Given the description of an element on the screen output the (x, y) to click on. 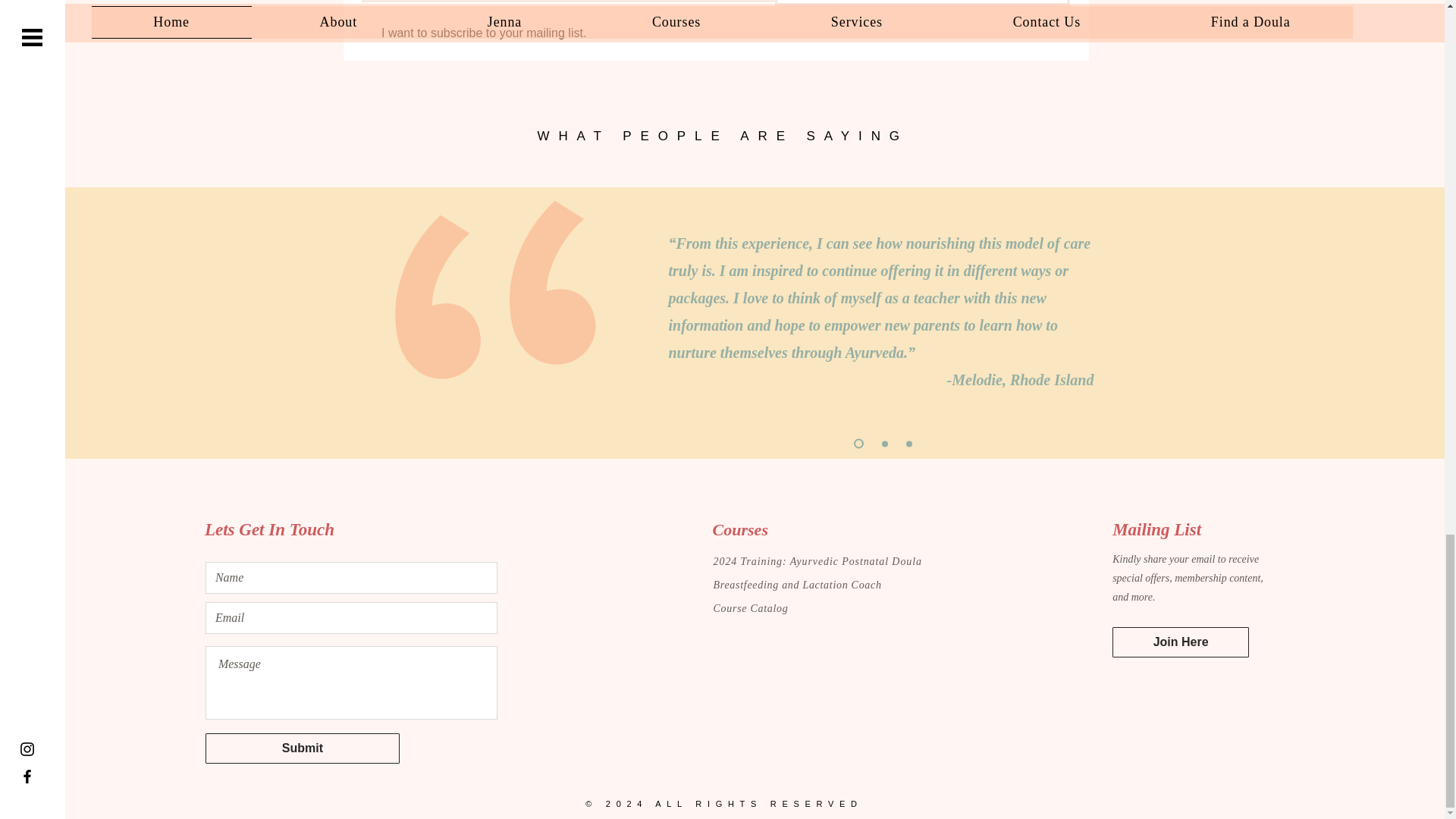
Breastfeeding and Lactation Coach (797, 584)
Course Catalog  (752, 608)
2024 Training: Ayurvedic Postnatal Doula (817, 560)
Submit (301, 748)
Join Here (1180, 642)
Join Our Mailing List (922, 2)
